Given the description of an element on the screen output the (x, y) to click on. 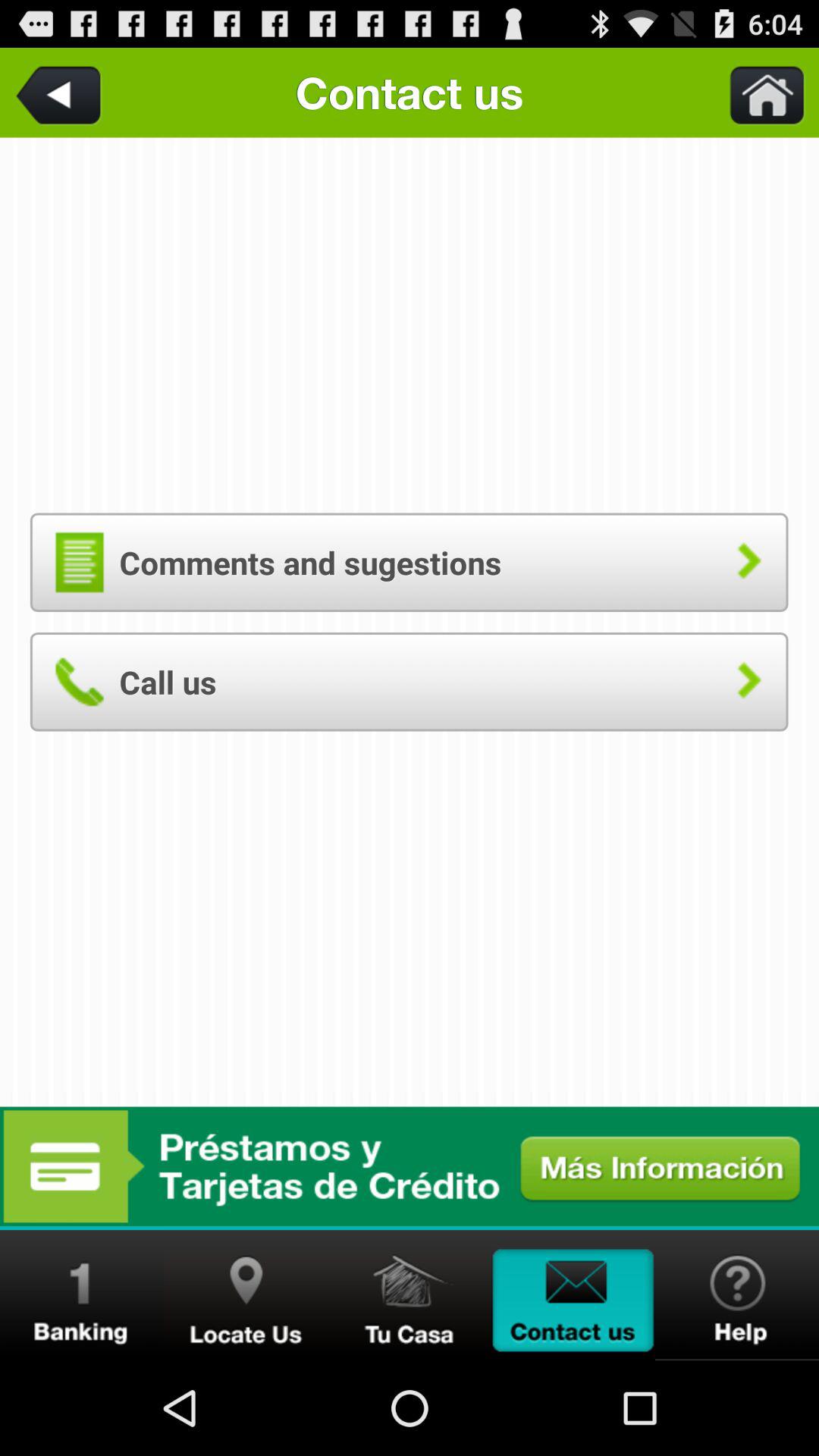
scroll to the comments and sugestions icon (409, 562)
